Given the description of an element on the screen output the (x, y) to click on. 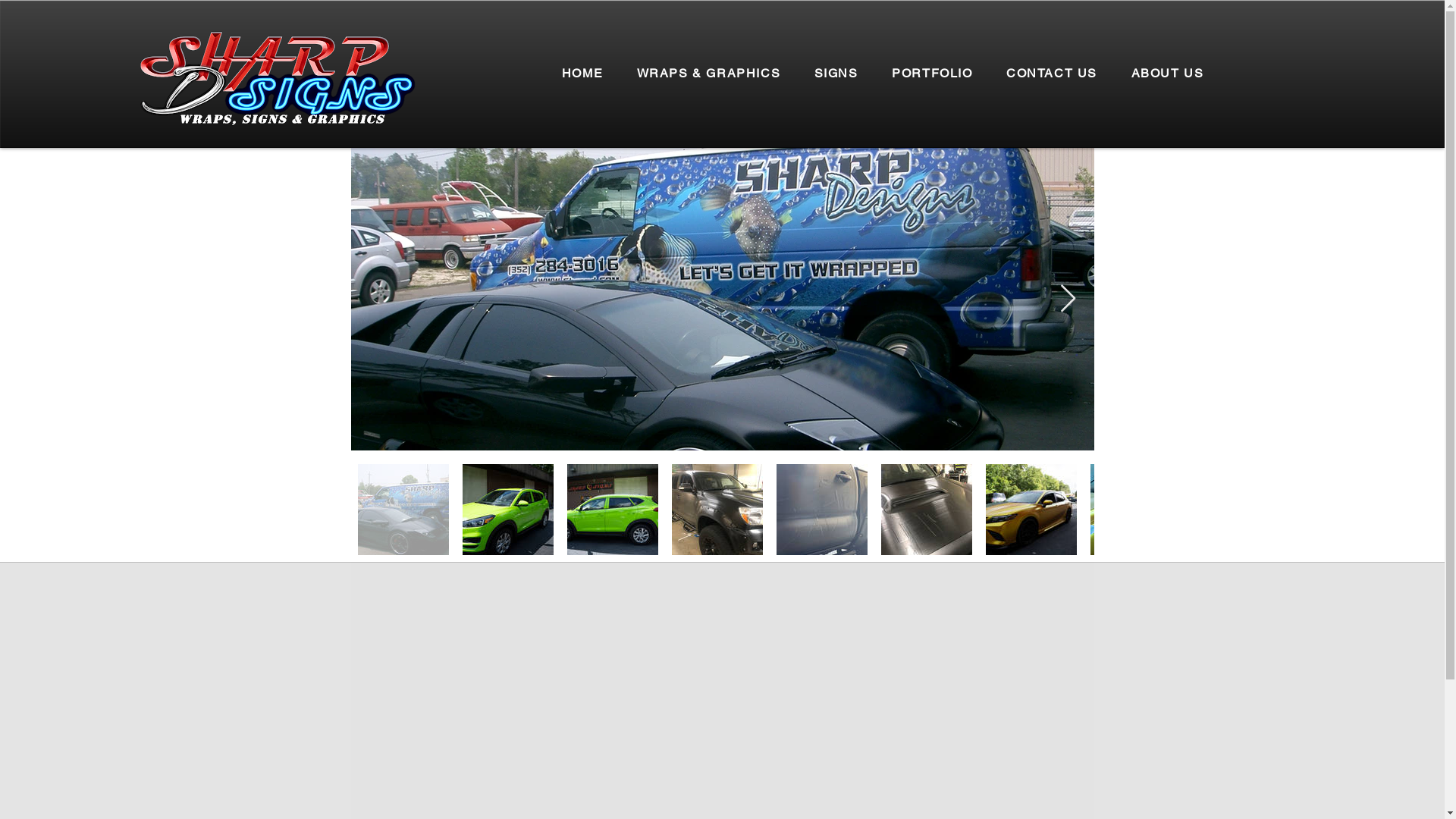
WRAPS & GRAPHICS Element type: text (707, 73)
CONTACT US Element type: text (1051, 73)
HOME Element type: text (581, 73)
SIGNS Element type: text (835, 73)
ABOUT US Element type: text (1167, 73)
PORTFOLIO Element type: text (932, 73)
